Given the description of an element on the screen output the (x, y) to click on. 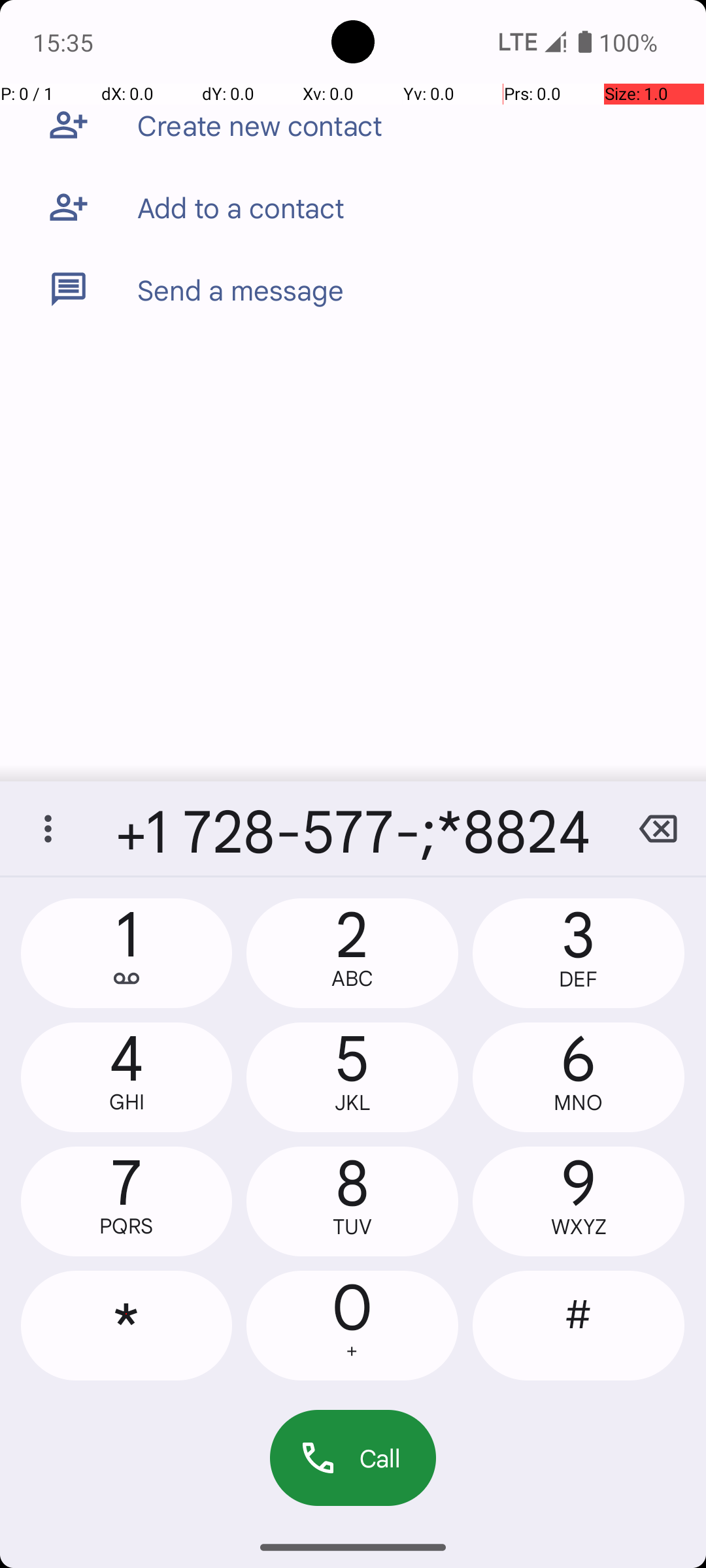
+1 728-577-;*8824 Element type: android.widget.EditText (352, 828)
